Given the description of an element on the screen output the (x, y) to click on. 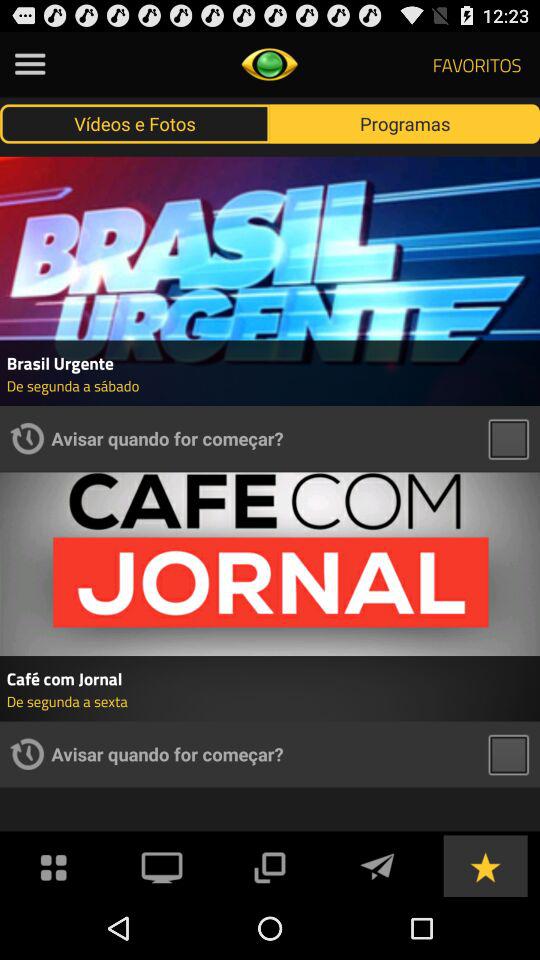
tap item next to programas button (135, 123)
